Given the description of an element on the screen output the (x, y) to click on. 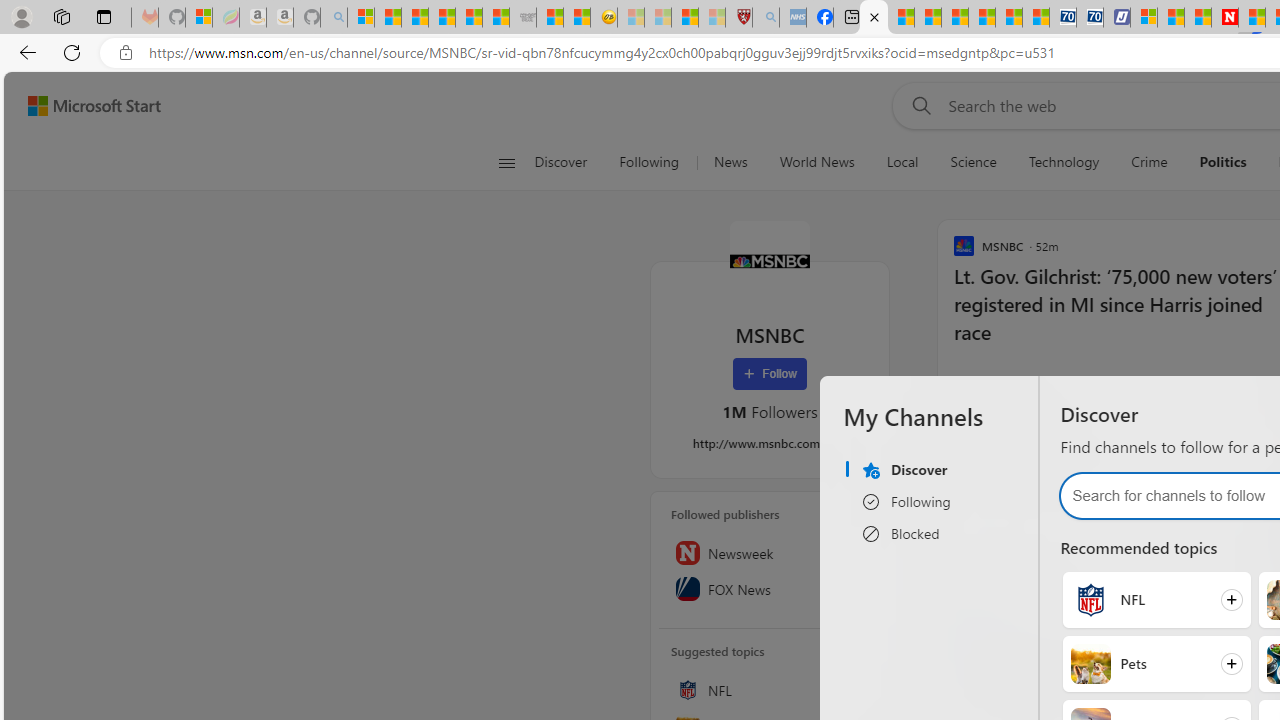
World News (816, 162)
Follow (769, 373)
Science (973, 162)
Robert H. Shmerling, MD - Harvard Health (738, 17)
Science - MSN (684, 17)
Local (902, 162)
News (730, 162)
Class: button-glyph (505, 162)
Technology (1064, 162)
Technology (1063, 162)
MSNBC - MSN (874, 17)
